Given the description of an element on the screen output the (x, y) to click on. 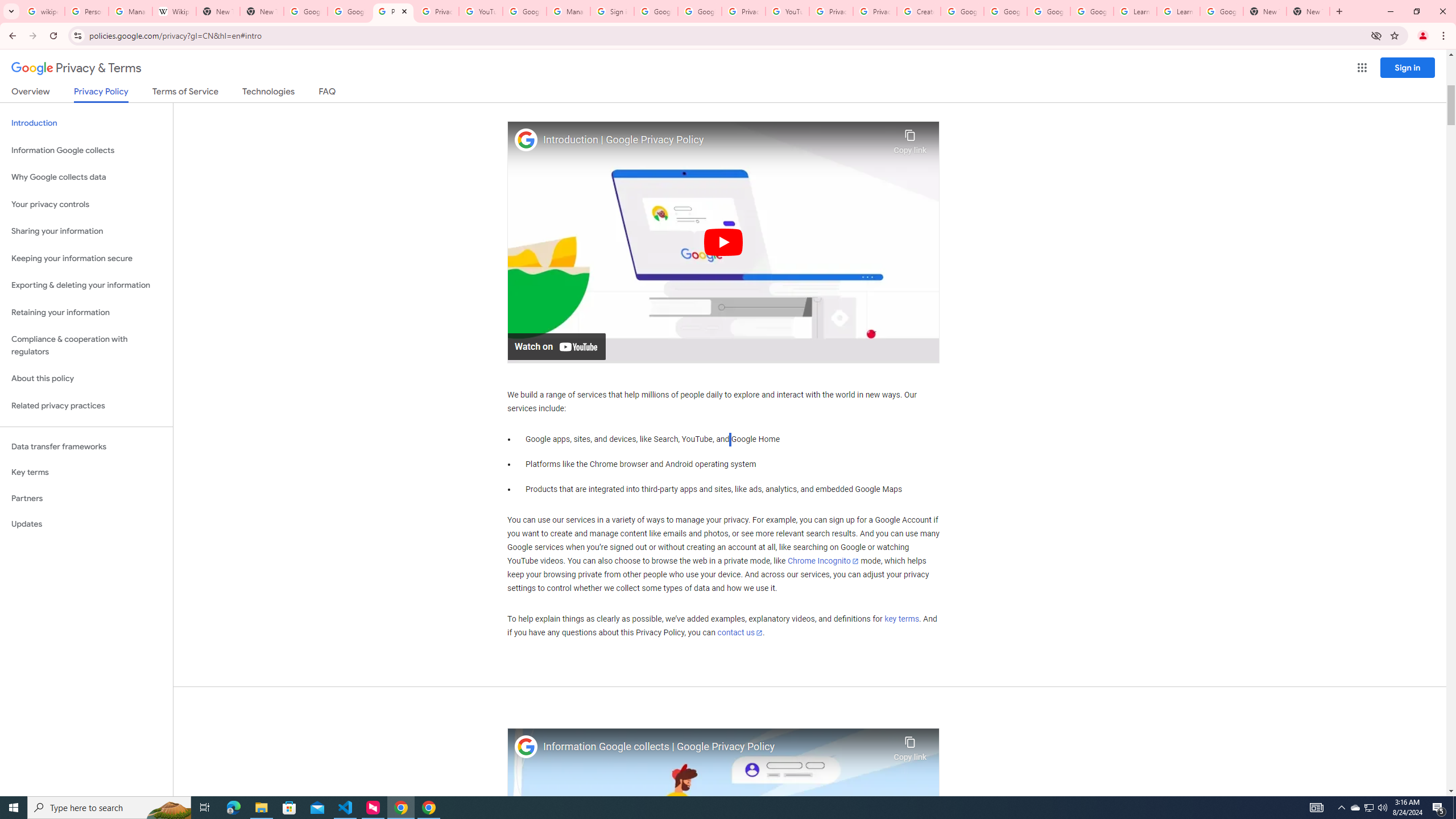
YouTube (786, 11)
Data transfer frameworks (86, 446)
Google Account Help (962, 11)
New Tab (261, 11)
Google Account (1221, 11)
Google Account Help (1048, 11)
